Given the description of an element on the screen output the (x, y) to click on. 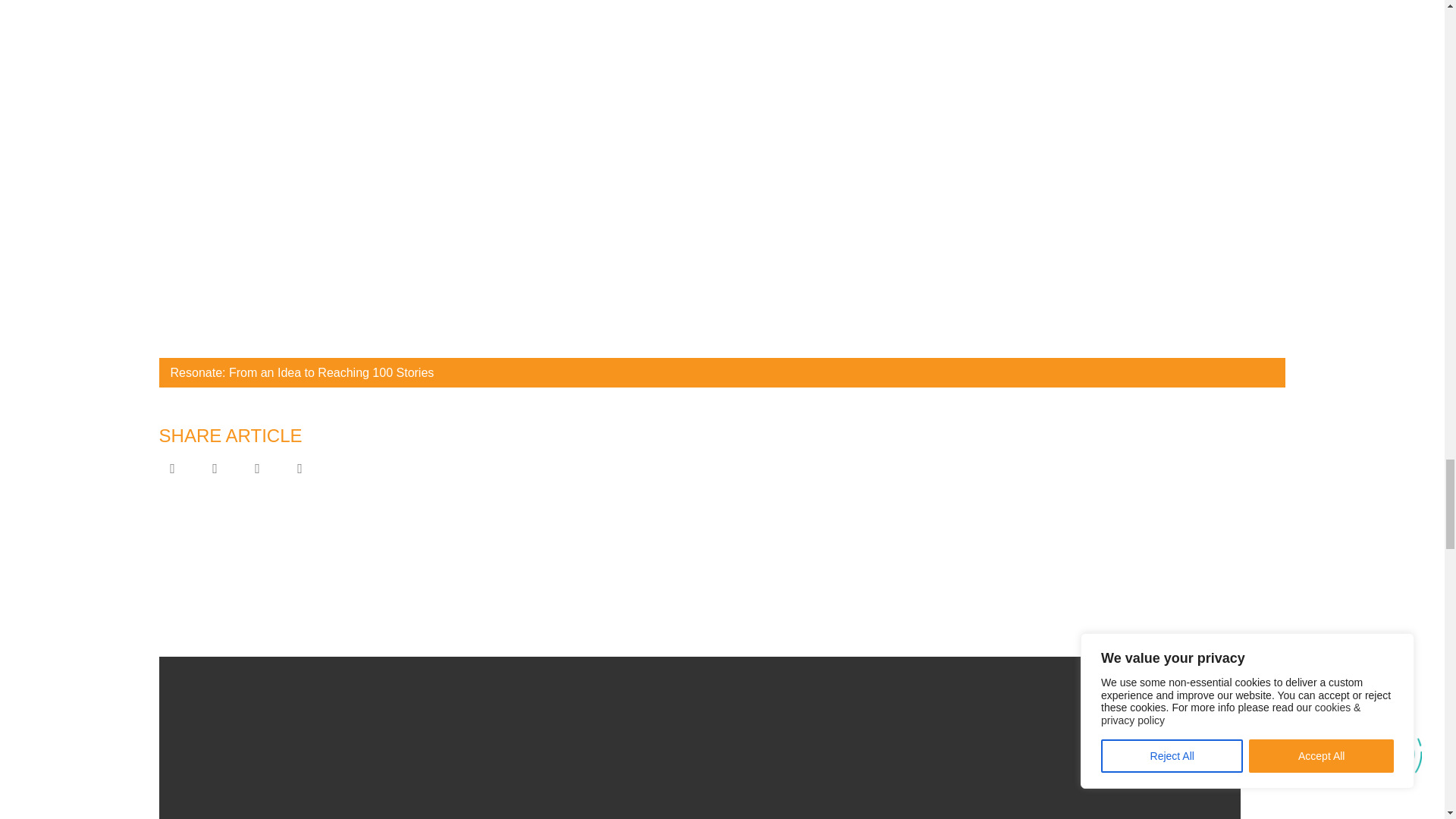
Facebook (172, 467)
Twitter (215, 467)
